Given the description of an element on the screen output the (x, y) to click on. 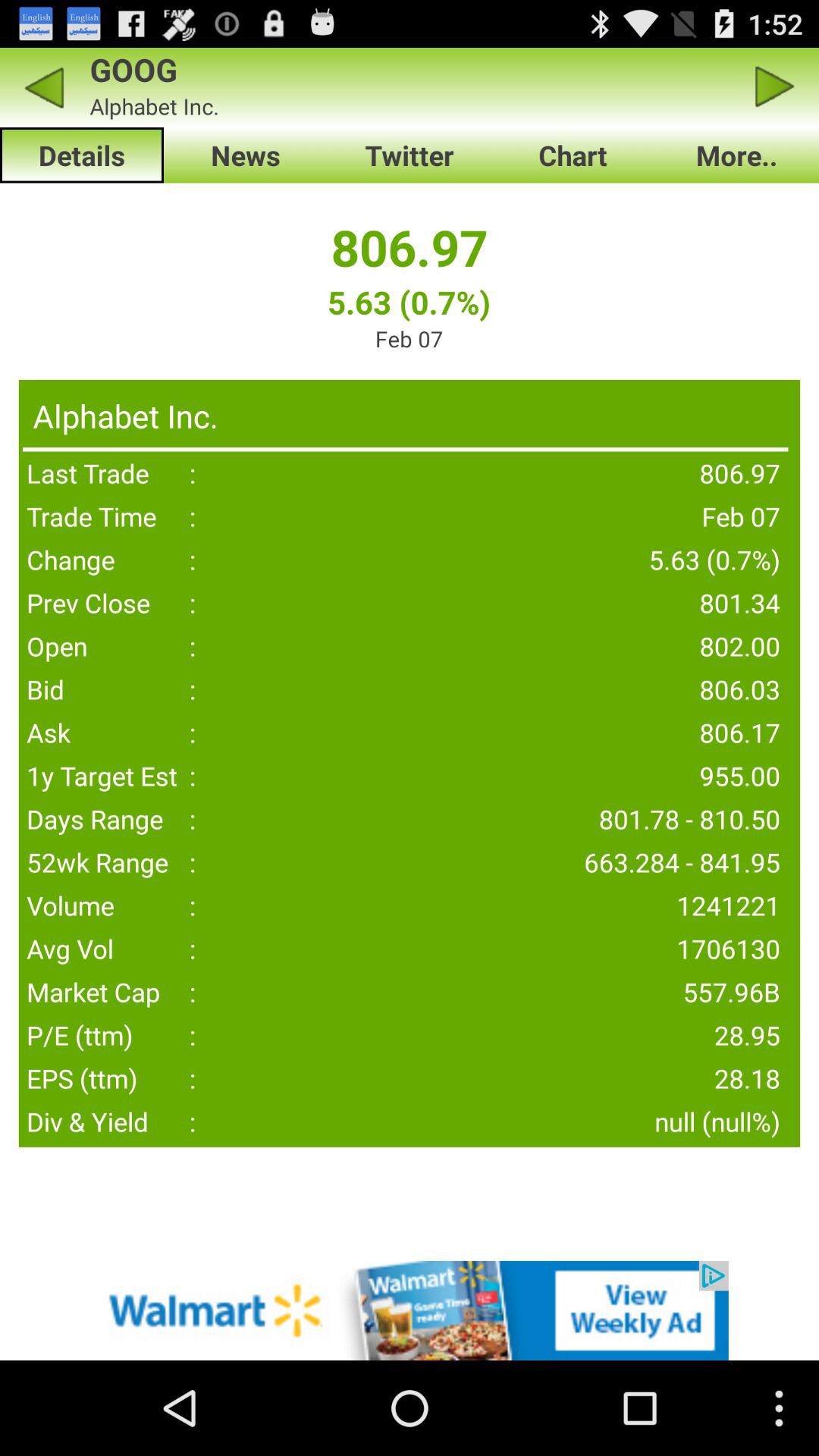
go to back (43, 87)
